Given the description of an element on the screen output the (x, y) to click on. 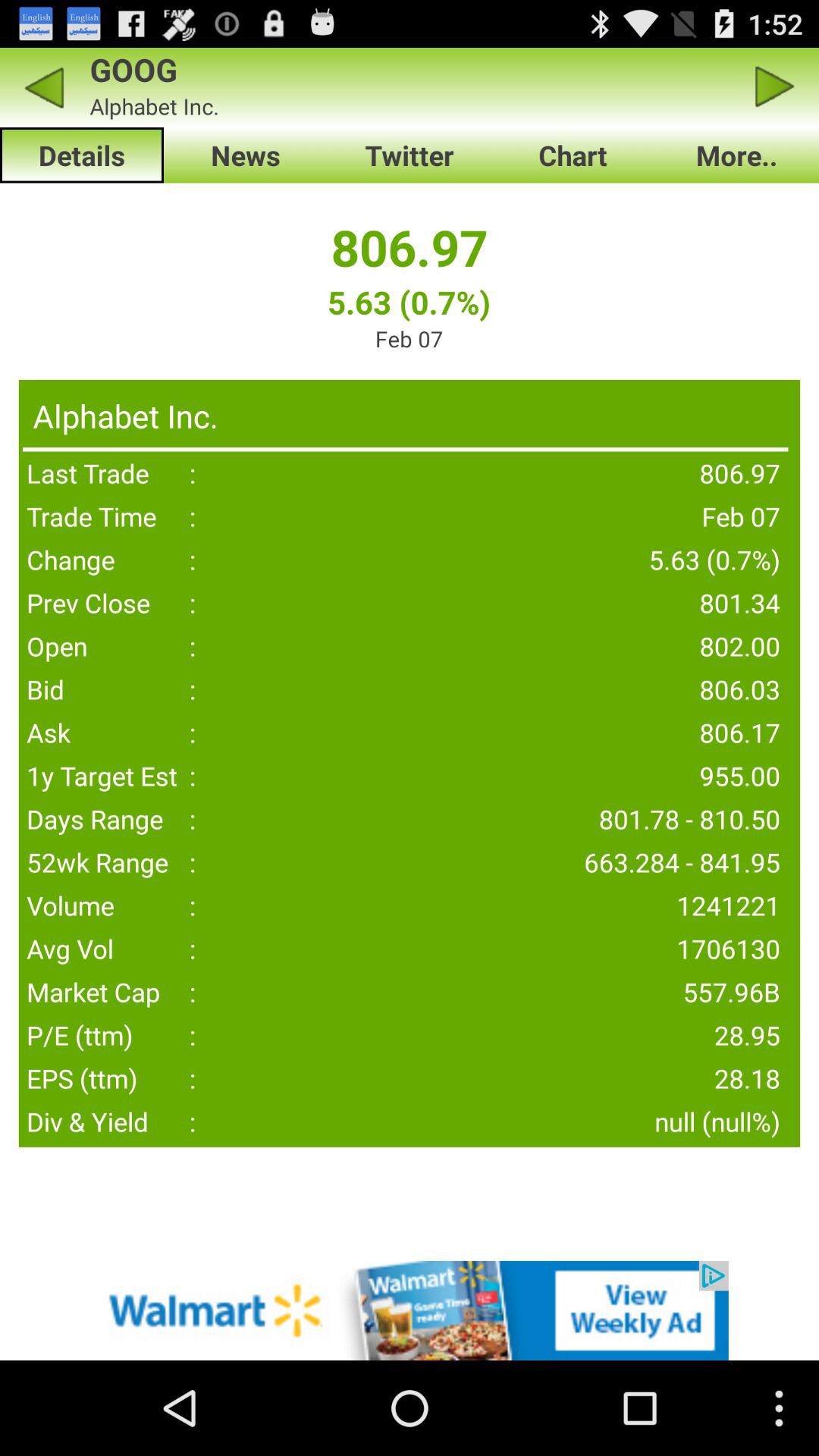
go to back (43, 87)
